Given the description of an element on the screen output the (x, y) to click on. 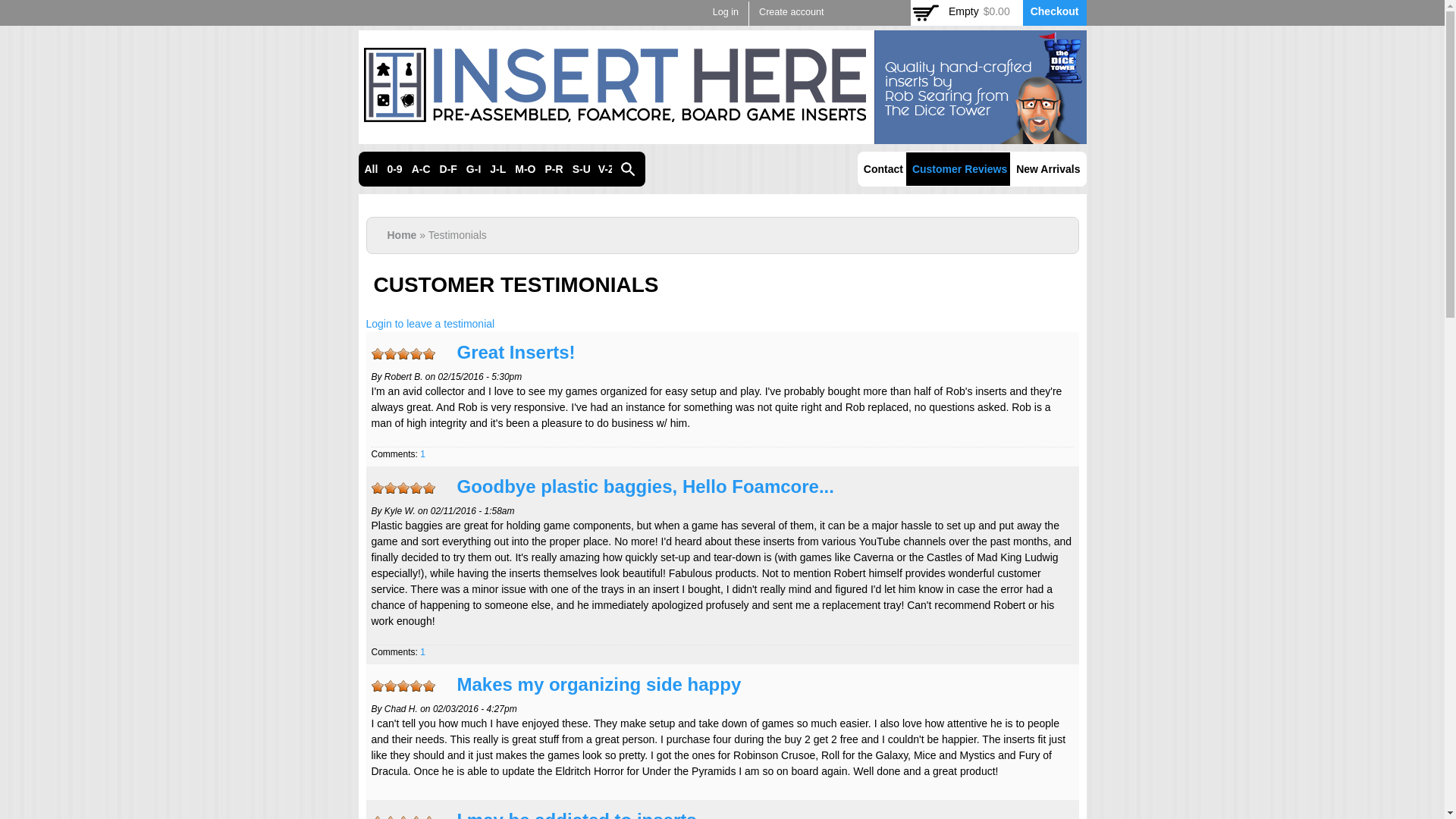
Checkout (1054, 10)
A-C (421, 168)
V-Z (606, 168)
Skip to main content (691, 1)
Log in (724, 12)
M-O (524, 168)
Contact (882, 168)
M-O (524, 168)
Login to leave a testimonial (430, 323)
D-F (448, 168)
